Given the description of an element on the screen output the (x, y) to click on. 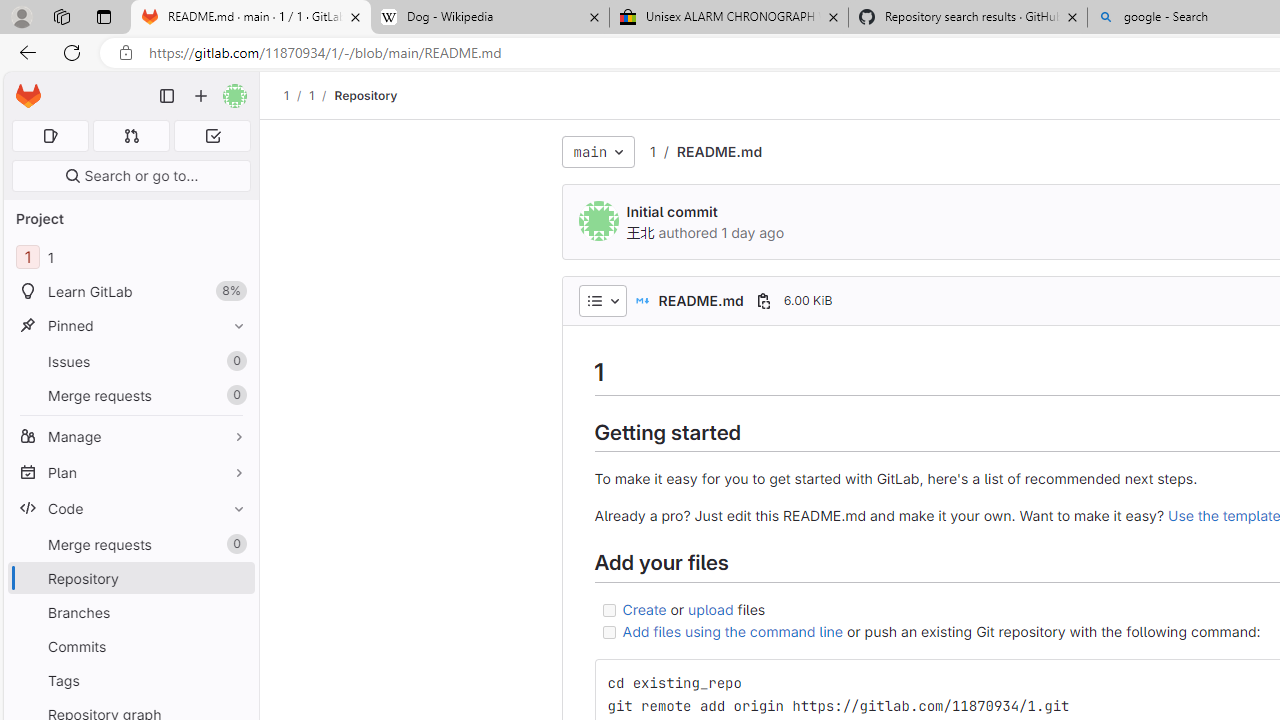
Pin Branches (234, 611)
Manage (130, 435)
Primary navigation sidebar (167, 96)
Plan (130, 471)
Pin Repository (234, 578)
Plan (130, 471)
Learn GitLab 8% (130, 291)
Commits (130, 646)
Issues 0 (130, 361)
Branches (130, 612)
1 1 (130, 257)
/README.md (708, 151)
